Given the description of an element on the screen output the (x, y) to click on. 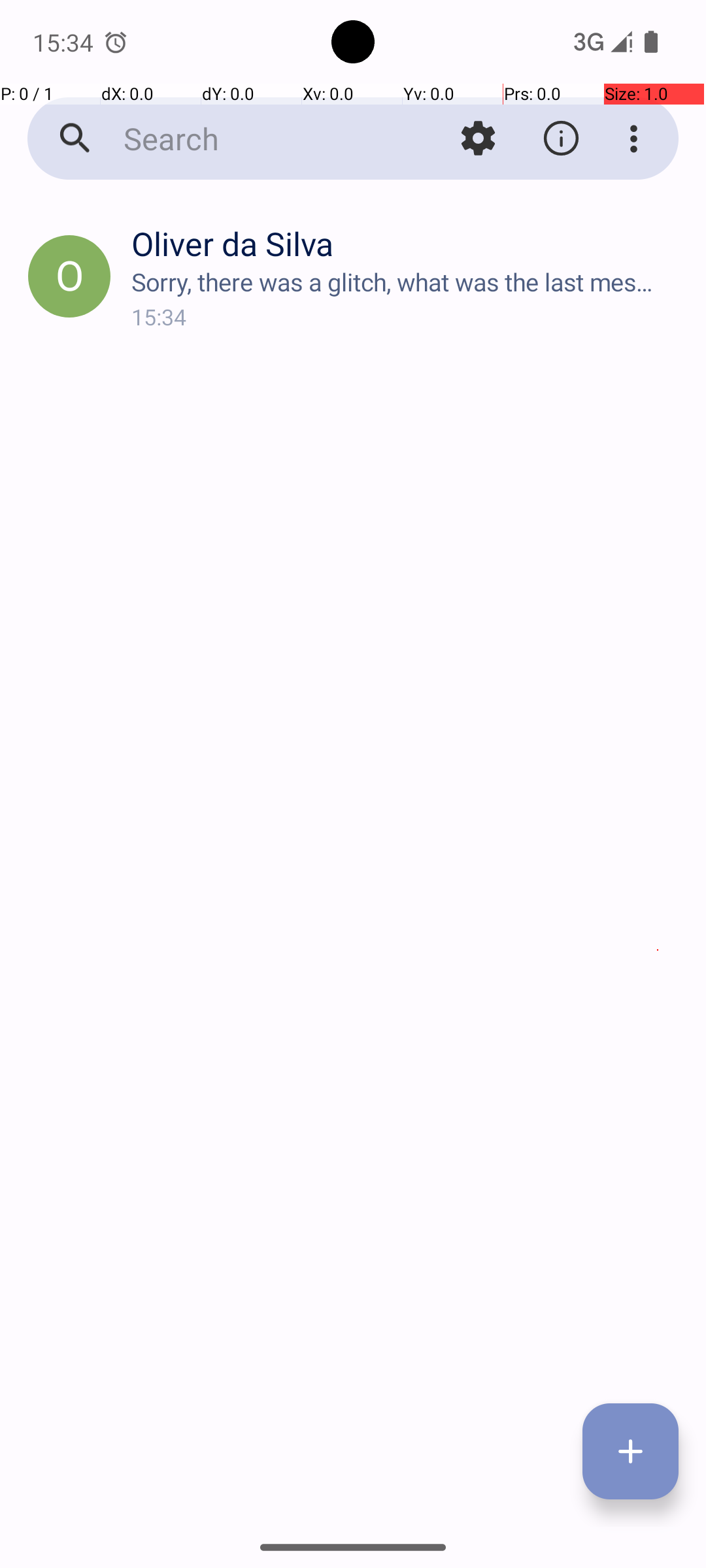
Oliver da Silva Element type: android.widget.TextView (408, 242)
